Given the description of an element on the screen output the (x, y) to click on. 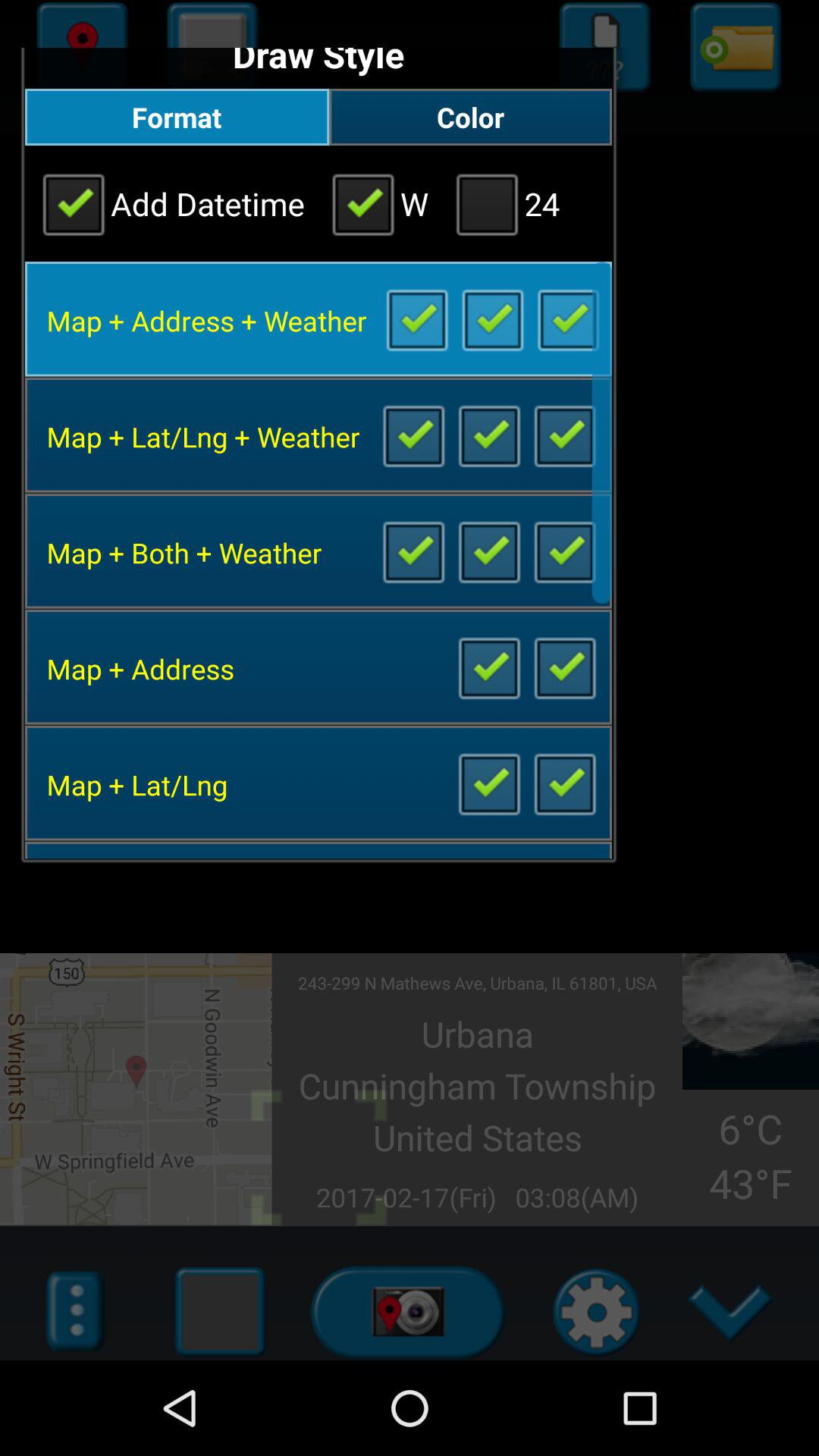
select item (564, 434)
